Given the description of an element on the screen output the (x, y) to click on. 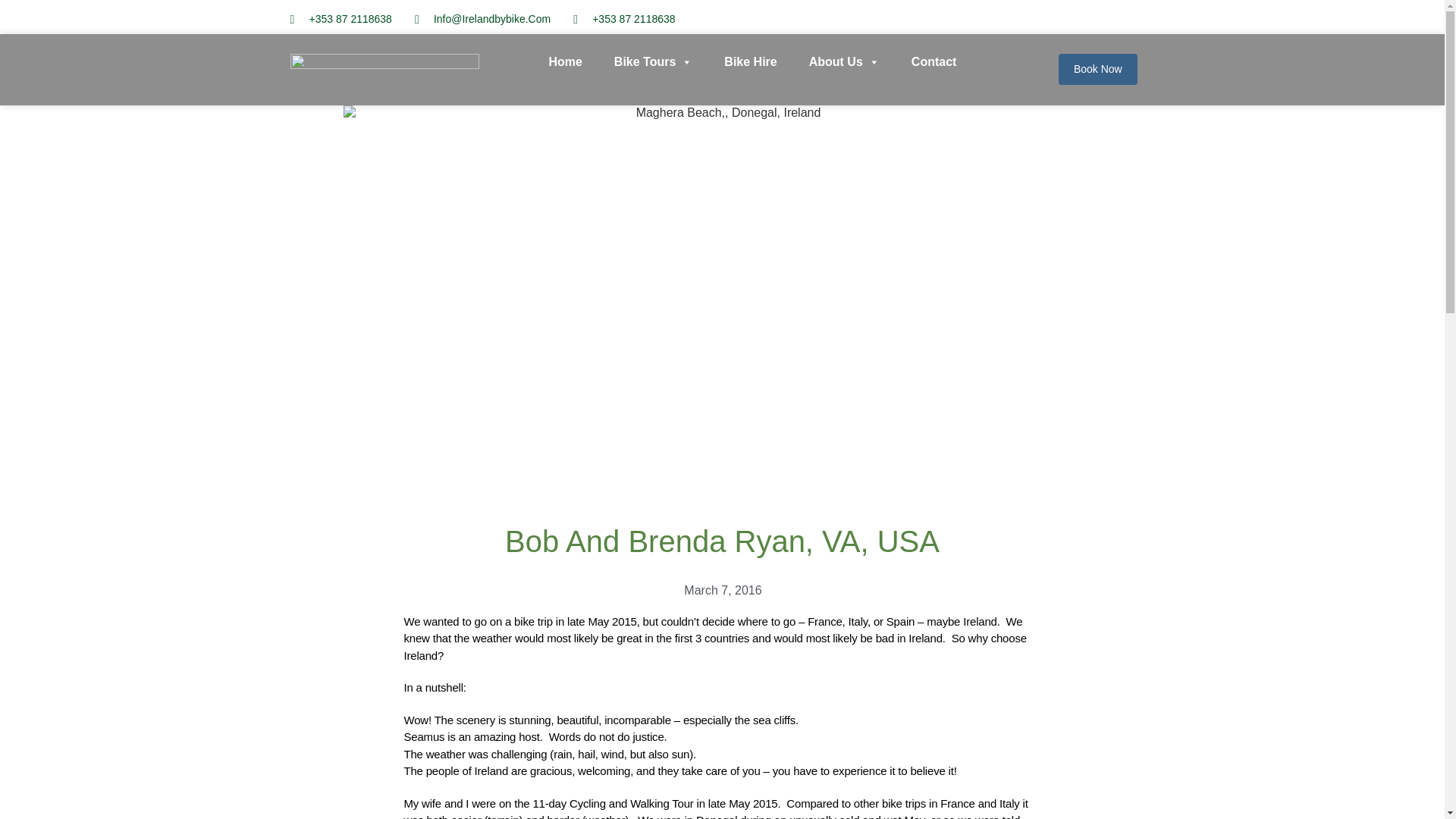
Book Now (1097, 69)
About Us (844, 62)
Contact (933, 62)
Bike Hire (749, 62)
Home (564, 62)
Bike Tours (653, 62)
